Given the description of an element on the screen output the (x, y) to click on. 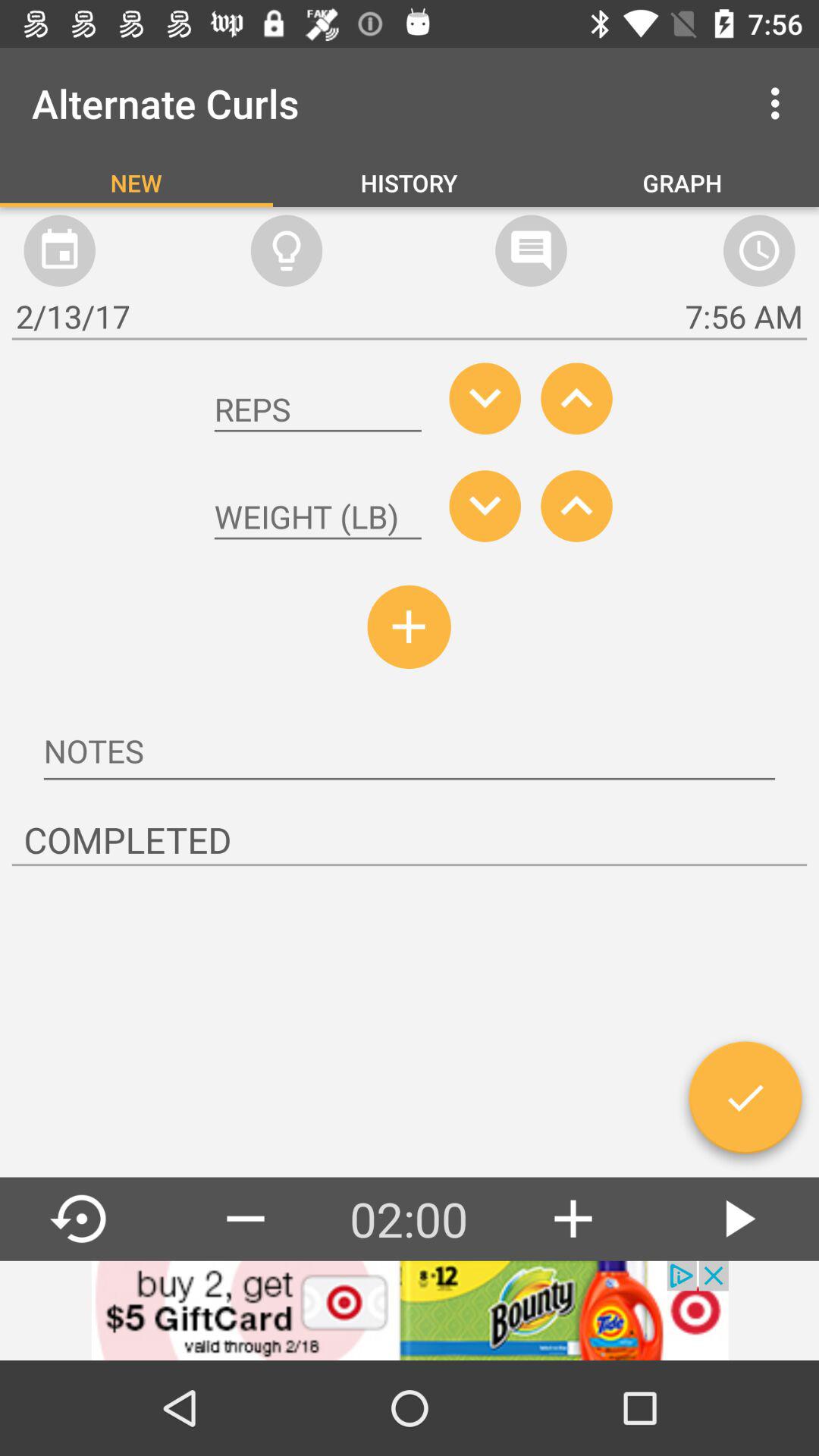
enter weight here (317, 517)
